Given the description of an element on the screen output the (x, y) to click on. 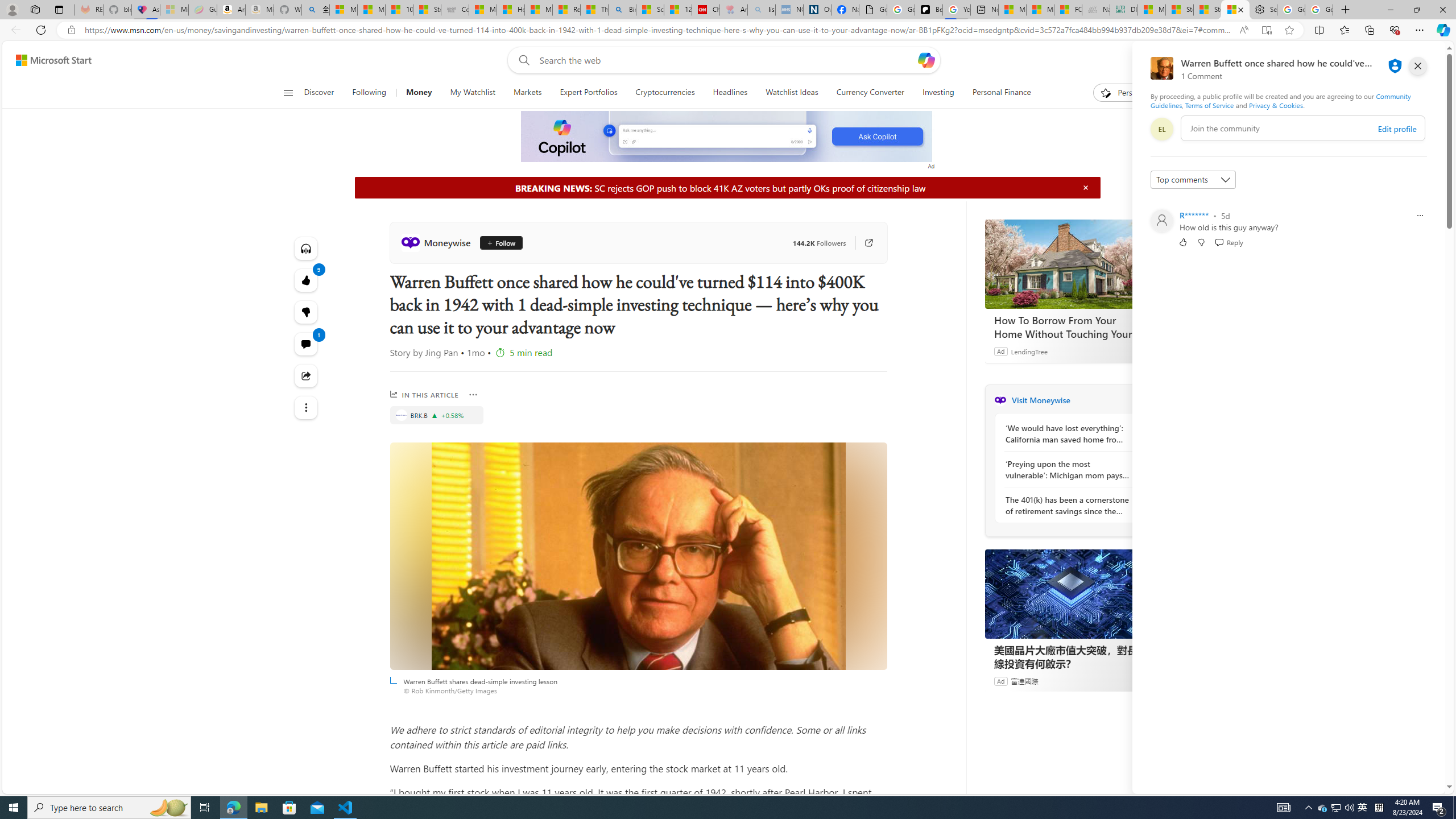
My Watchlist (472, 92)
Currency Converter (869, 92)
Stocks - MSN (1206, 9)
Report comment (1419, 215)
Combat Siege (454, 9)
Microsoft rewards (1374, 60)
Class: button-glyph (287, 92)
Listen to this article (305, 248)
Hide (1084, 187)
Google Analytics Opt-out Browser Add-on Download Page (872, 9)
Price increase (434, 414)
